Given the description of an element on the screen output the (x, y) to click on. 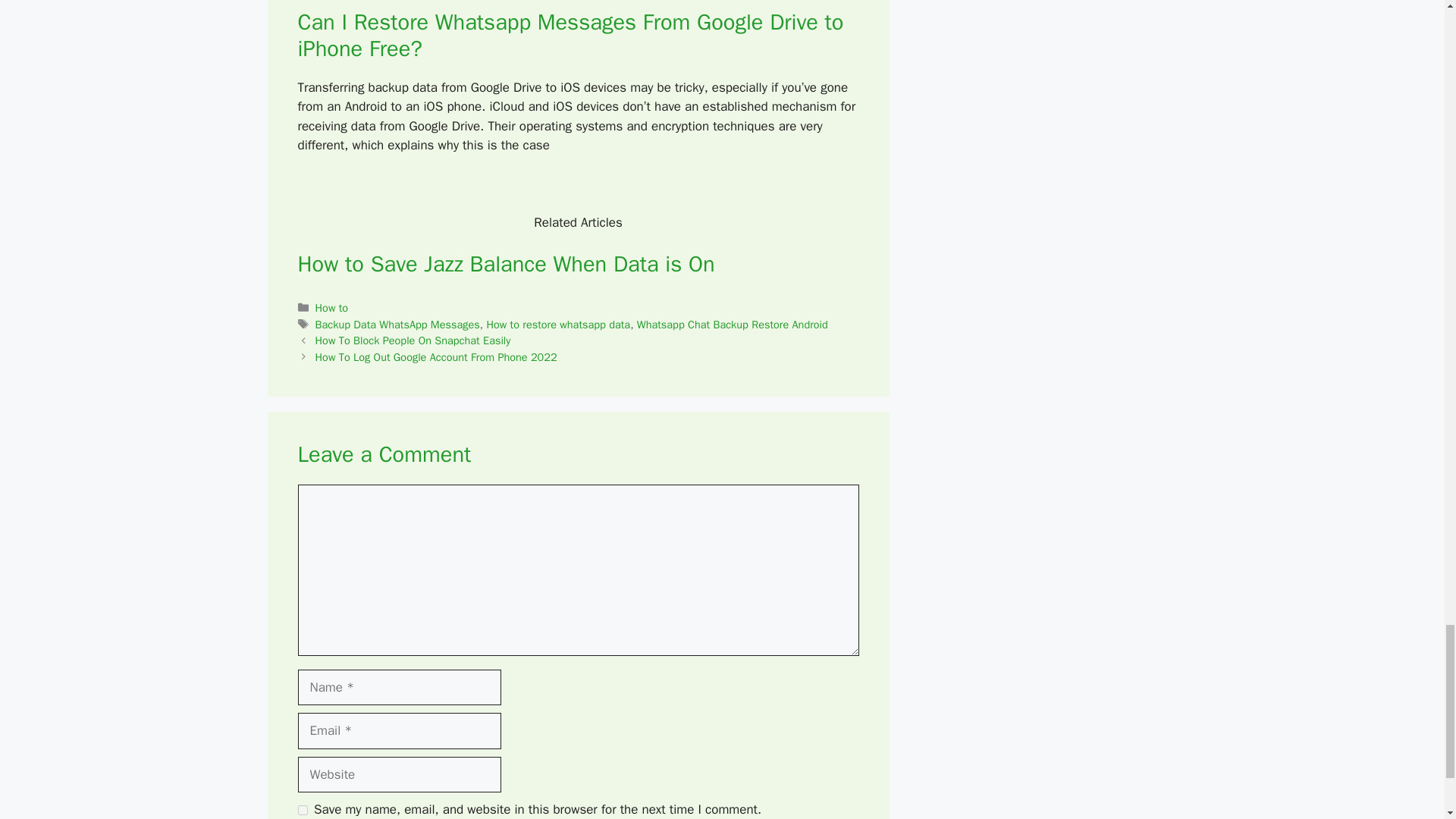
Backup Data WhatsApp Messages (397, 324)
yes (302, 809)
How to (332, 307)
How to Save Jazz Balance When Data is On (505, 264)
